Given the description of an element on the screen output the (x, y) to click on. 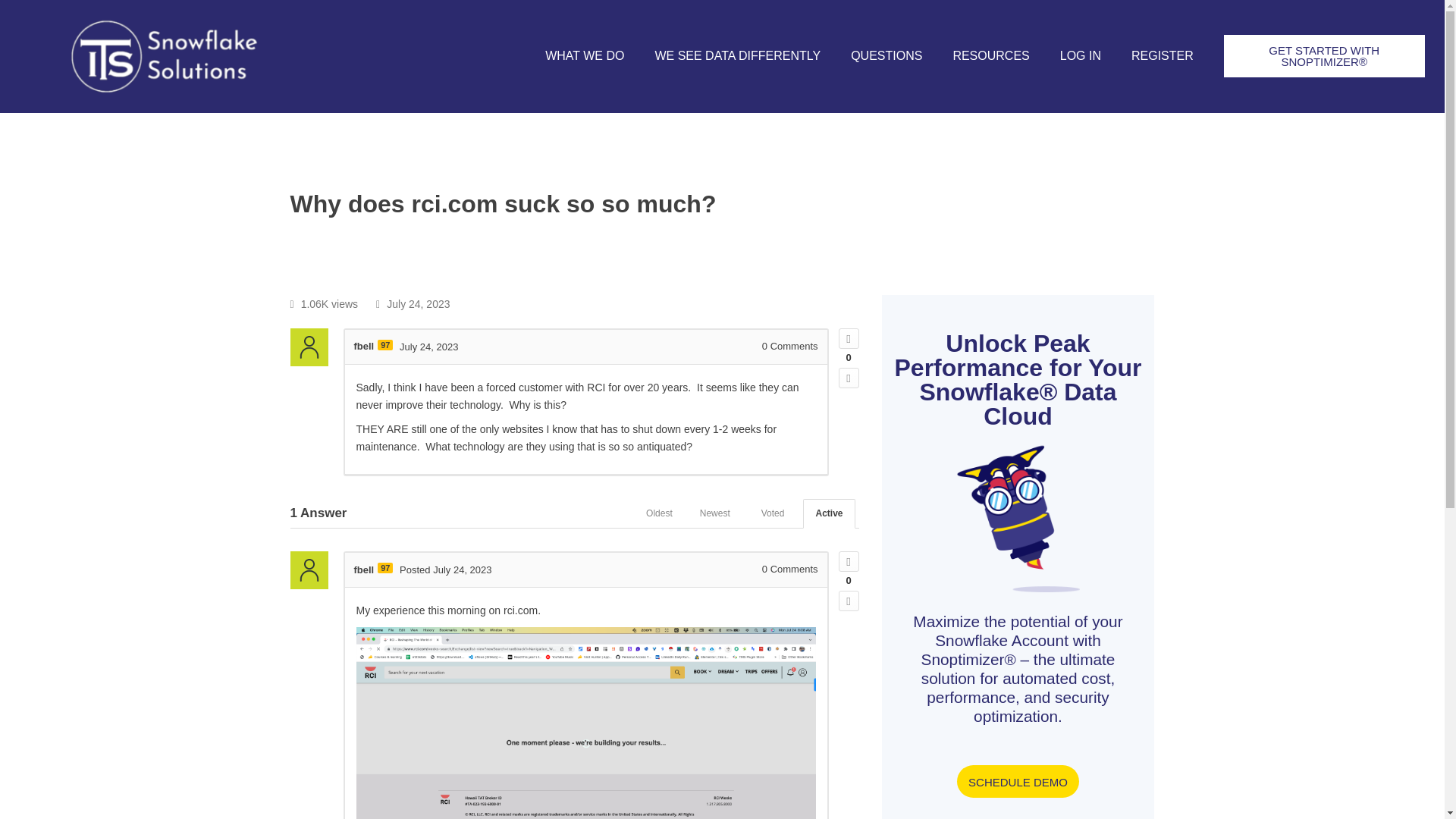
July 24, 2023 (428, 346)
SCHEDULE DEMO (1017, 780)
Down vote this answer (848, 600)
WE SEE DATA DIFFERENTLY (737, 55)
fbell (363, 346)
LOG IN (1080, 55)
Oldest (658, 513)
Up vote this question (848, 338)
Voted (772, 513)
Down vote this question (848, 377)
Up vote this answer (848, 561)
WHAT WE DO (584, 55)
Reputation (385, 344)
Reputation (385, 567)
97 (385, 344)
